Given the description of an element on the screen output the (x, y) to click on. 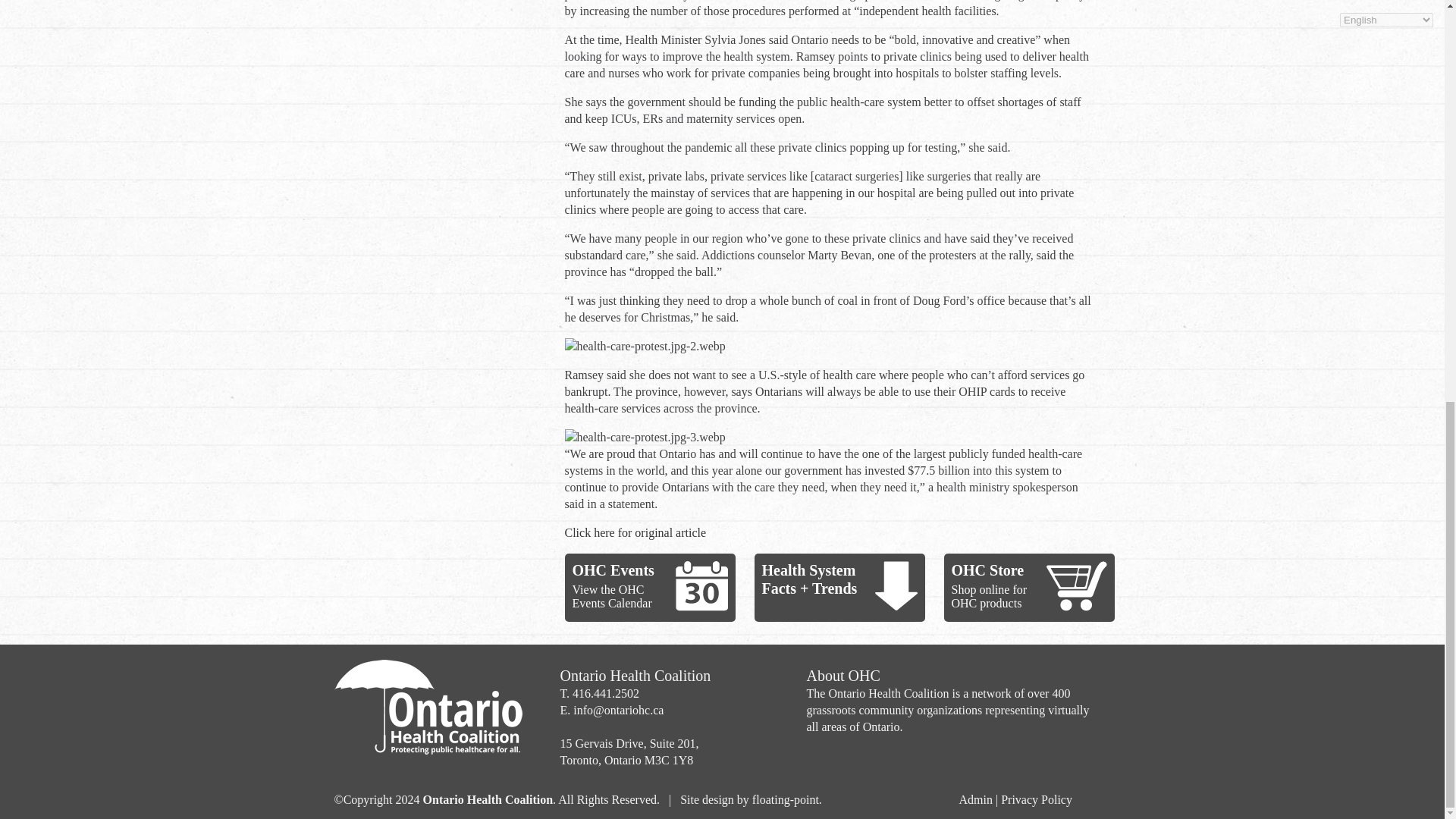
Admin (974, 799)
floating-point (785, 799)
Ontario Health Coalition Events (700, 585)
Privacy Policy (1036, 799)
OHC Store (986, 569)
Shop online for OHC products (988, 596)
OHC Events (612, 569)
Click here for original article (635, 532)
View the OHC Events Calendar (611, 596)
Ontario Health Coalition Store (1076, 585)
